Given the description of an element on the screen output the (x, y) to click on. 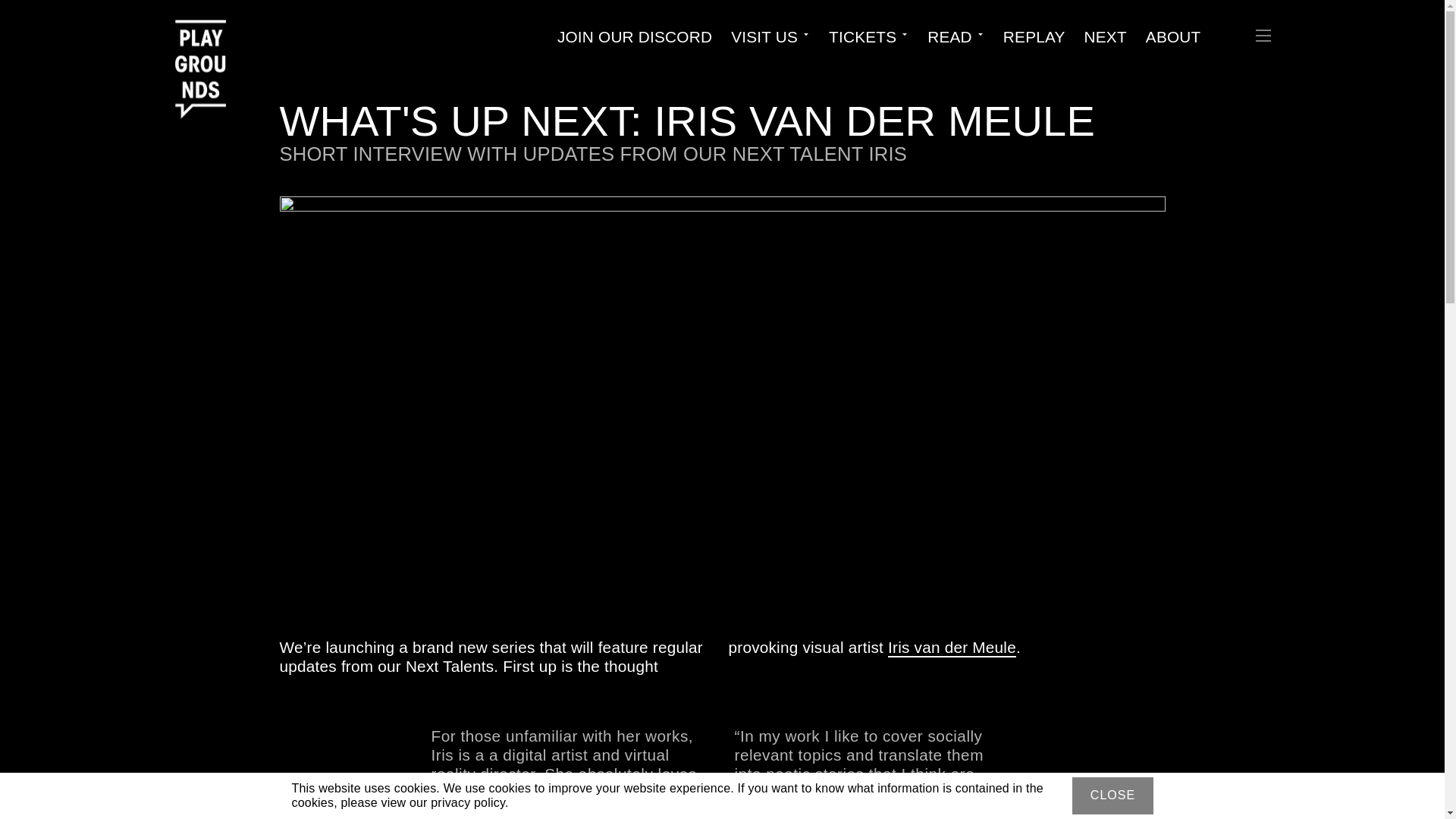
VISIT US (763, 36)
TICKETS (862, 36)
REPLAY (1034, 36)
Playgrounds logo (206, 44)
READ (949, 36)
JOIN OUR DISCORD (634, 36)
NEXT (1105, 36)
Playgrounds logo (199, 50)
ABOUT (1173, 36)
